Given the description of an element on the screen output the (x, y) to click on. 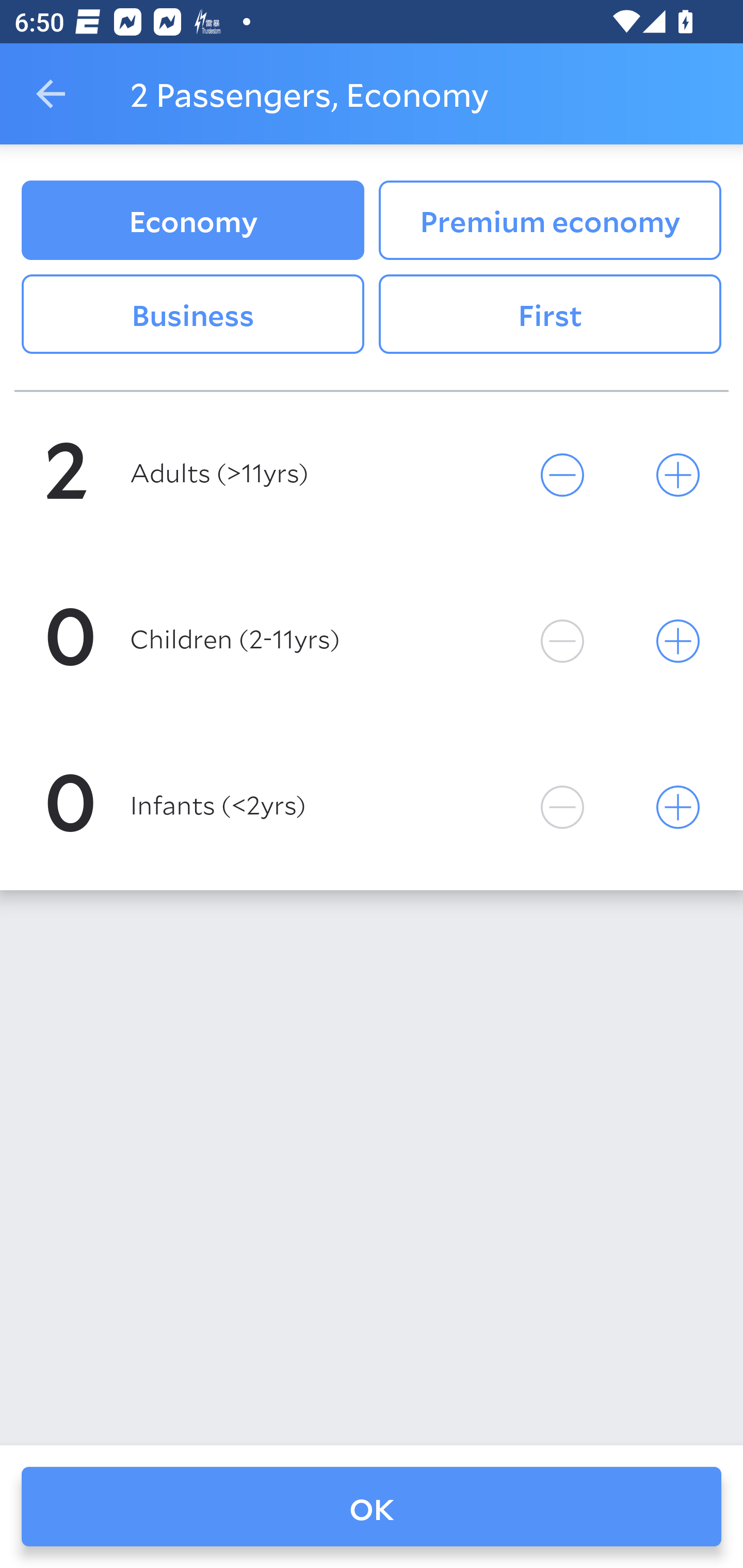
Navigate up (50, 93)
Economy (192, 220)
Premium economy (549, 220)
Business (192, 314)
First (549, 314)
OK (371, 1506)
